Given the description of an element on the screen output the (x, y) to click on. 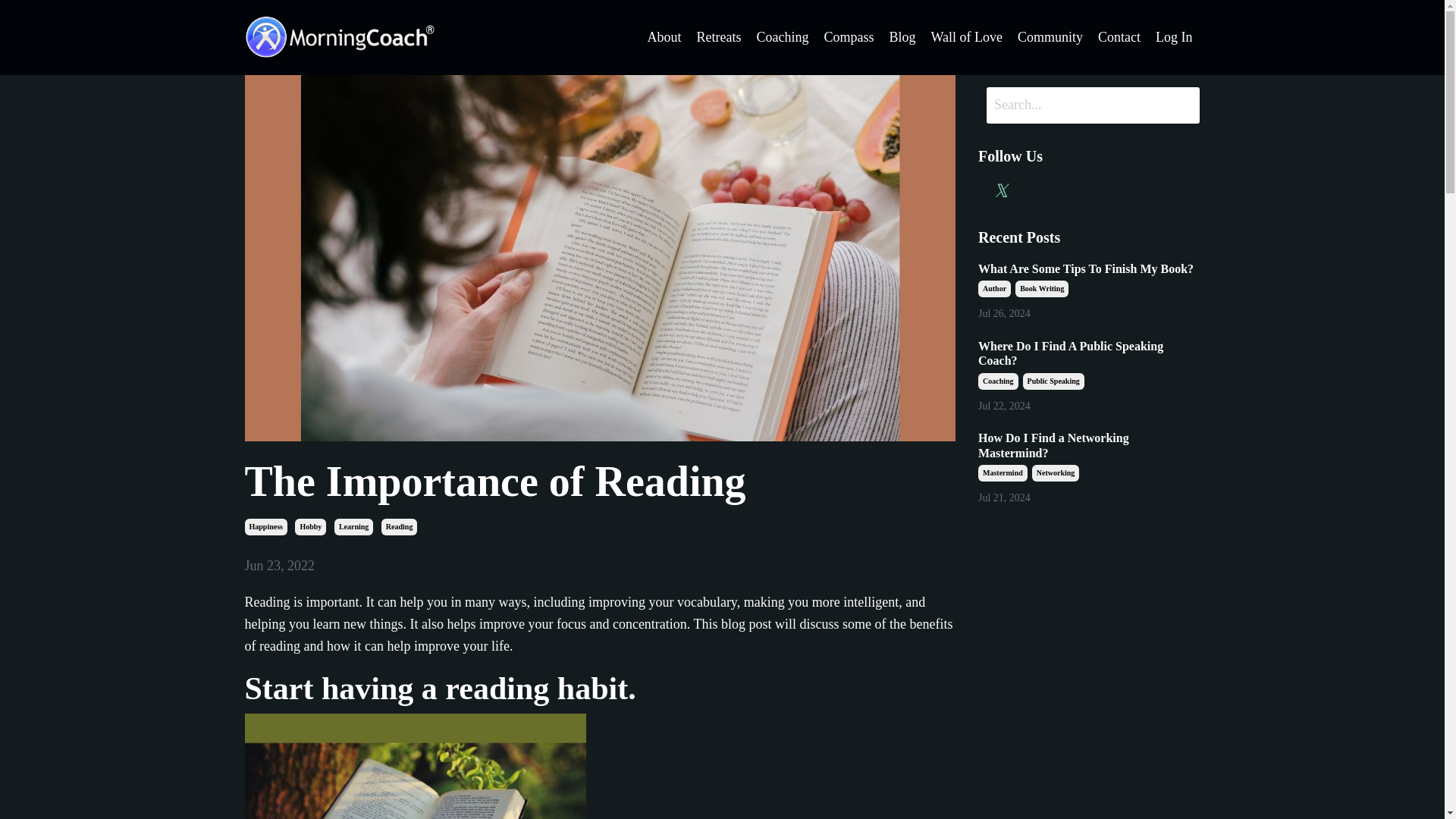
Public Speaking (1053, 381)
Book Writing (1041, 288)
Networking (1056, 473)
Blog (901, 37)
Community (1050, 37)
Author (994, 288)
Log In (1174, 37)
About (663, 37)
Contact (1118, 37)
Retreats (718, 37)
What Are Some Tips To Finish My Book? (1088, 268)
Coaching (997, 381)
Wall of Love (966, 37)
Mastermind (1002, 473)
Happiness (265, 526)
